Given the description of an element on the screen output the (x, y) to click on. 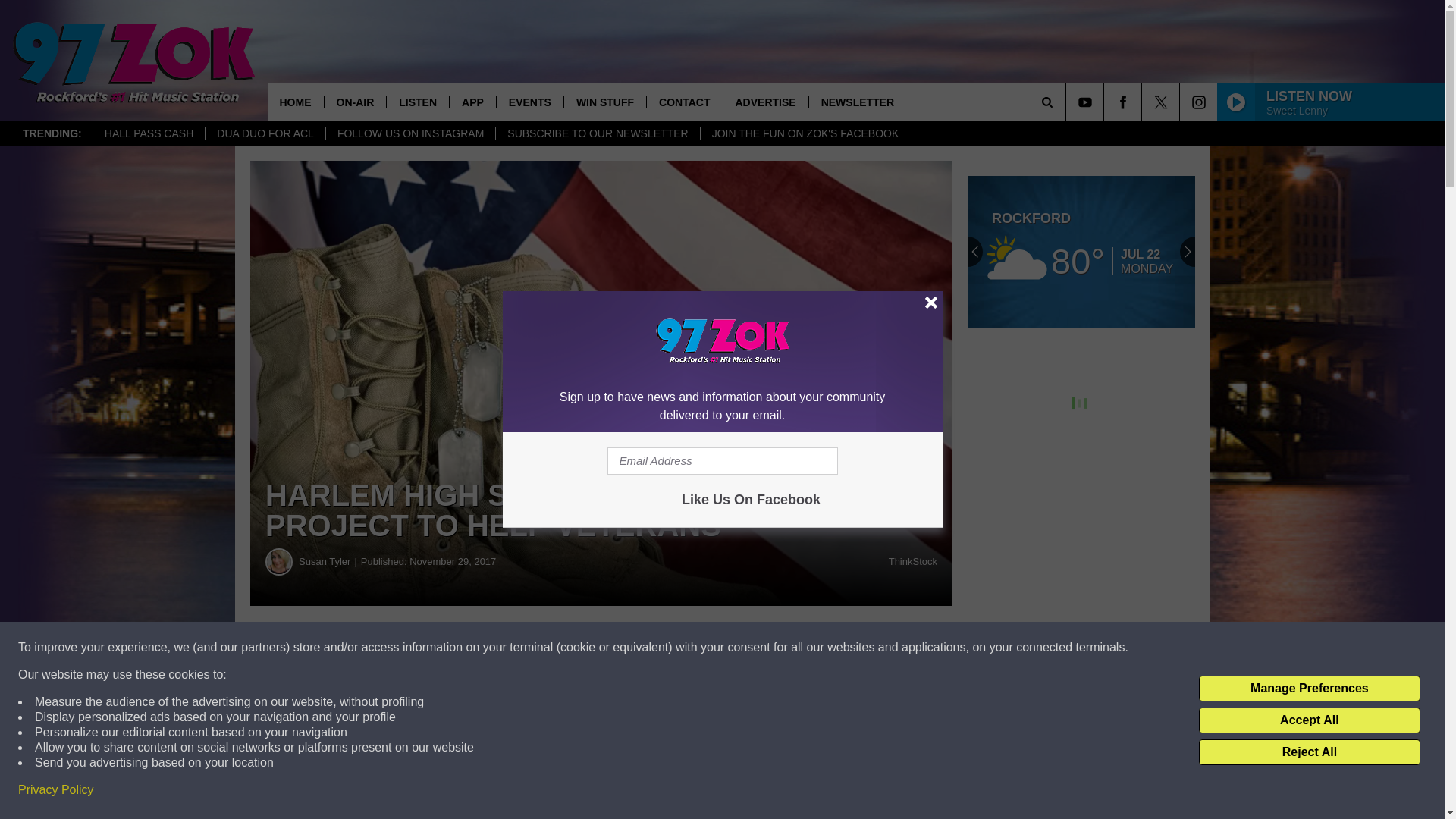
CONTACT (684, 102)
WIN STUFF (604, 102)
Privacy Policy (55, 789)
DUA DUO FOR ACL (264, 133)
EVENTS (529, 102)
JOIN THE FUN ON ZOK'S FACEBOOK (805, 133)
Accept All (1309, 720)
Share on Twitter (741, 647)
SUBSCRIBE TO OUR NEWSLETTER (596, 133)
APP (472, 102)
SEARCH (1068, 102)
Reject All (1309, 751)
HALL PASS CASH (149, 133)
SEARCH (1068, 102)
LISTEN (416, 102)
